Given the description of an element on the screen output the (x, y) to click on. 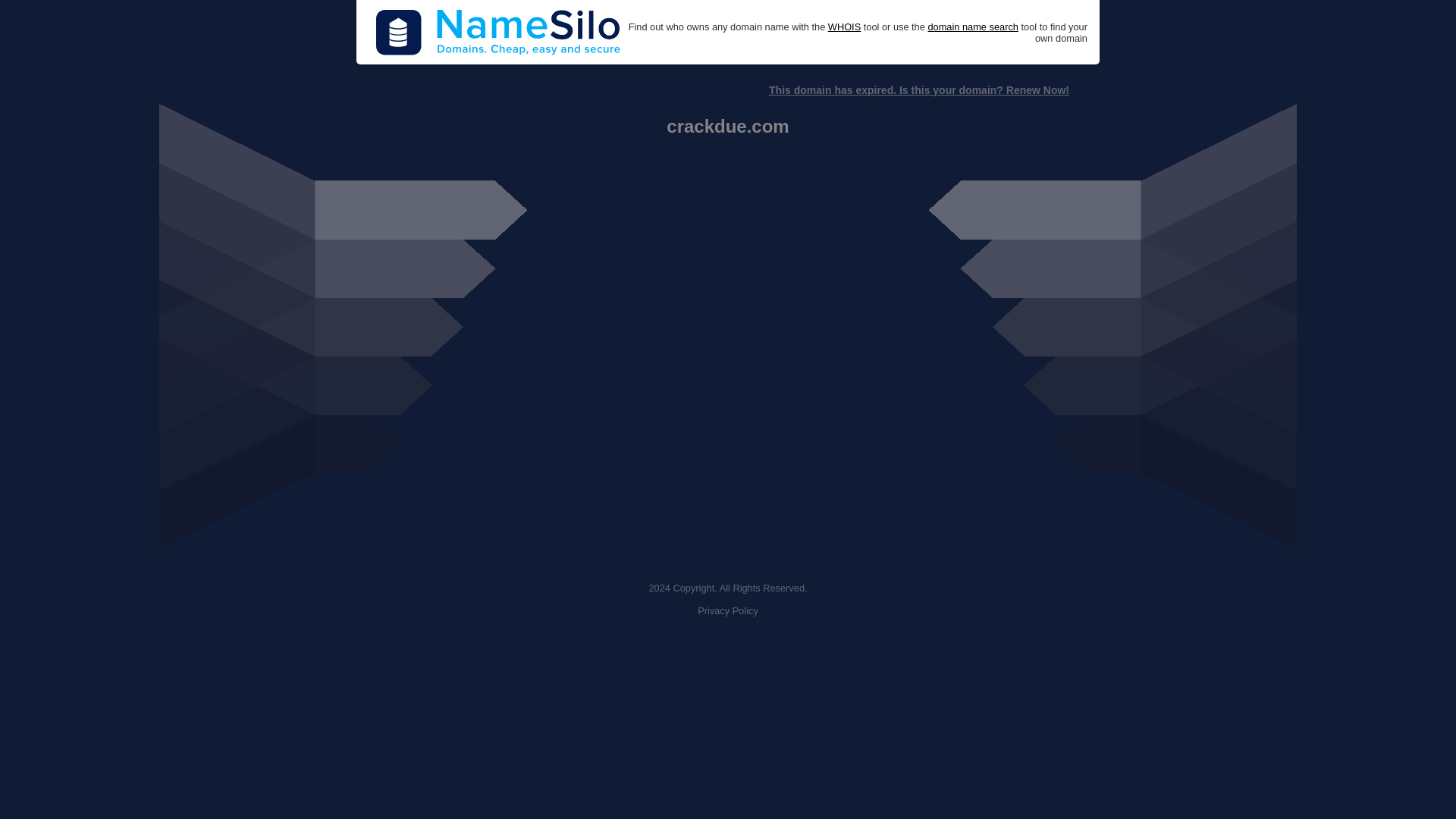
This domain has expired. Is this your domain? Renew Now! (918, 90)
domain name search (972, 26)
WHOIS (844, 26)
Privacy Policy (727, 610)
